Given the description of an element on the screen output the (x, y) to click on. 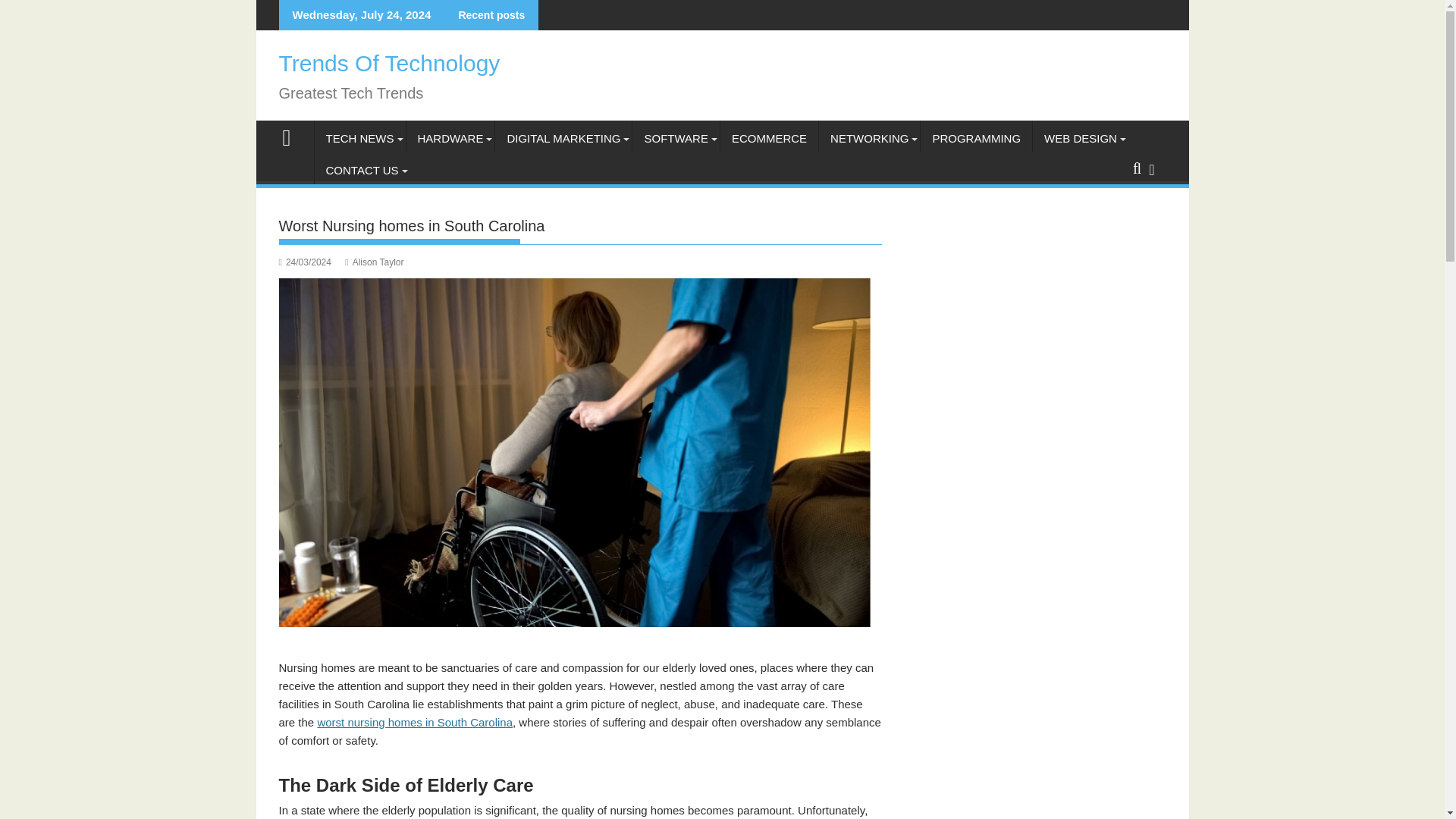
HARDWARE (450, 138)
TECH NEWS (359, 138)
ECOMMERCE (769, 138)
WEB DESIGN (1080, 138)
NETWORKING (869, 138)
Trends Of Technology (389, 63)
Trends Of Technology (293, 136)
SOFTWARE (675, 138)
CONTACT US (361, 170)
DIGITAL MARKETING (563, 138)
PROGRAMMING (976, 138)
